Given the description of an element on the screen output the (x, y) to click on. 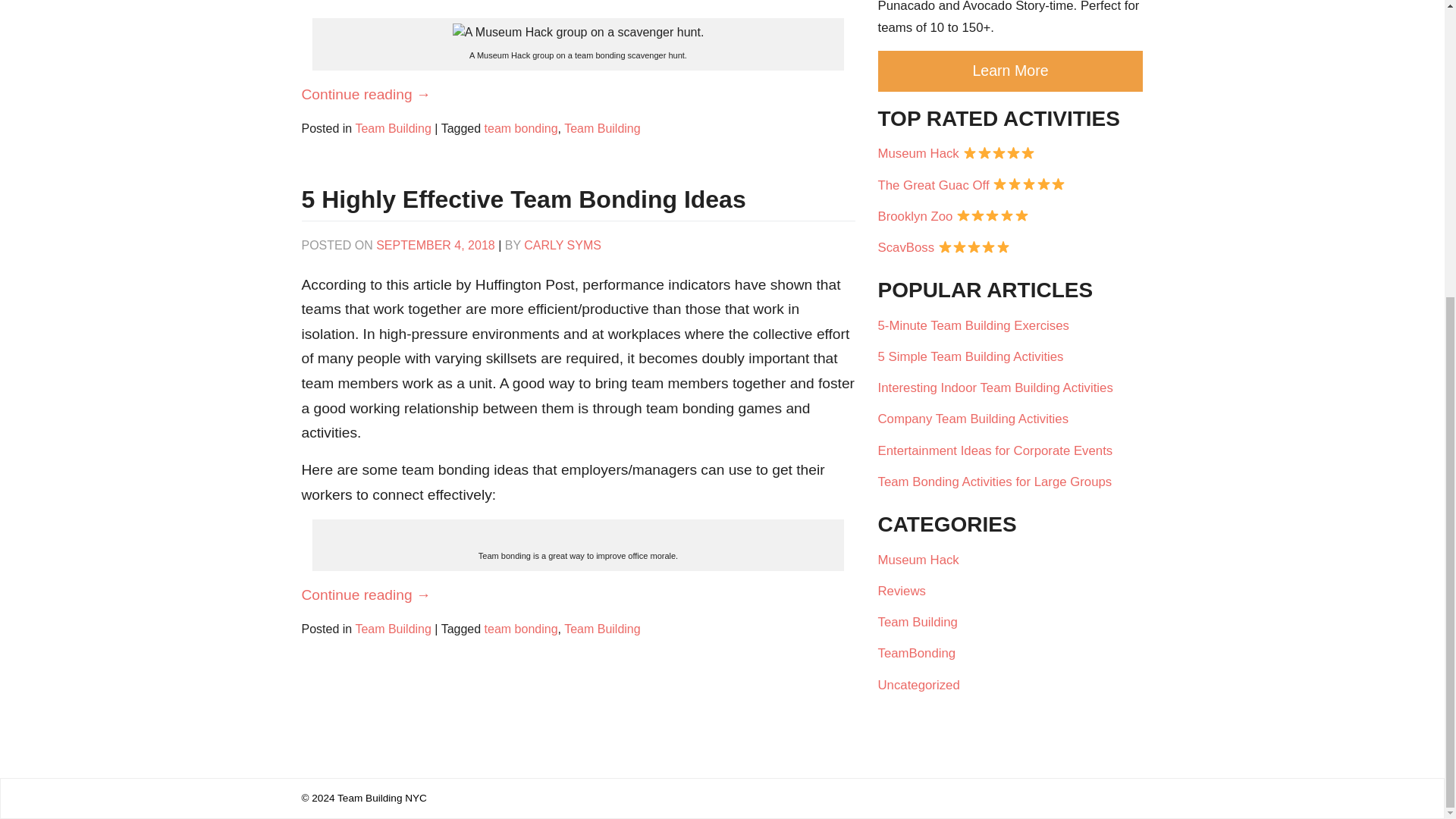
Entertainment Ideas for Corporate Events (1009, 450)
Reviews (907, 590)
The Great Guac Off (1009, 183)
team bonding (520, 628)
Team Building (392, 628)
Team Building (602, 128)
Team Building (392, 128)
Interesting Indoor Team Building Activities (1009, 387)
Brooklyn Zoo (1009, 215)
Team Building (923, 622)
Company Team Building Activities (1009, 418)
SEPTEMBER 4, 2018 (435, 245)
team bonding (520, 128)
TeamBonding (922, 653)
Museum Hack (1009, 153)
